Given the description of an element on the screen output the (x, y) to click on. 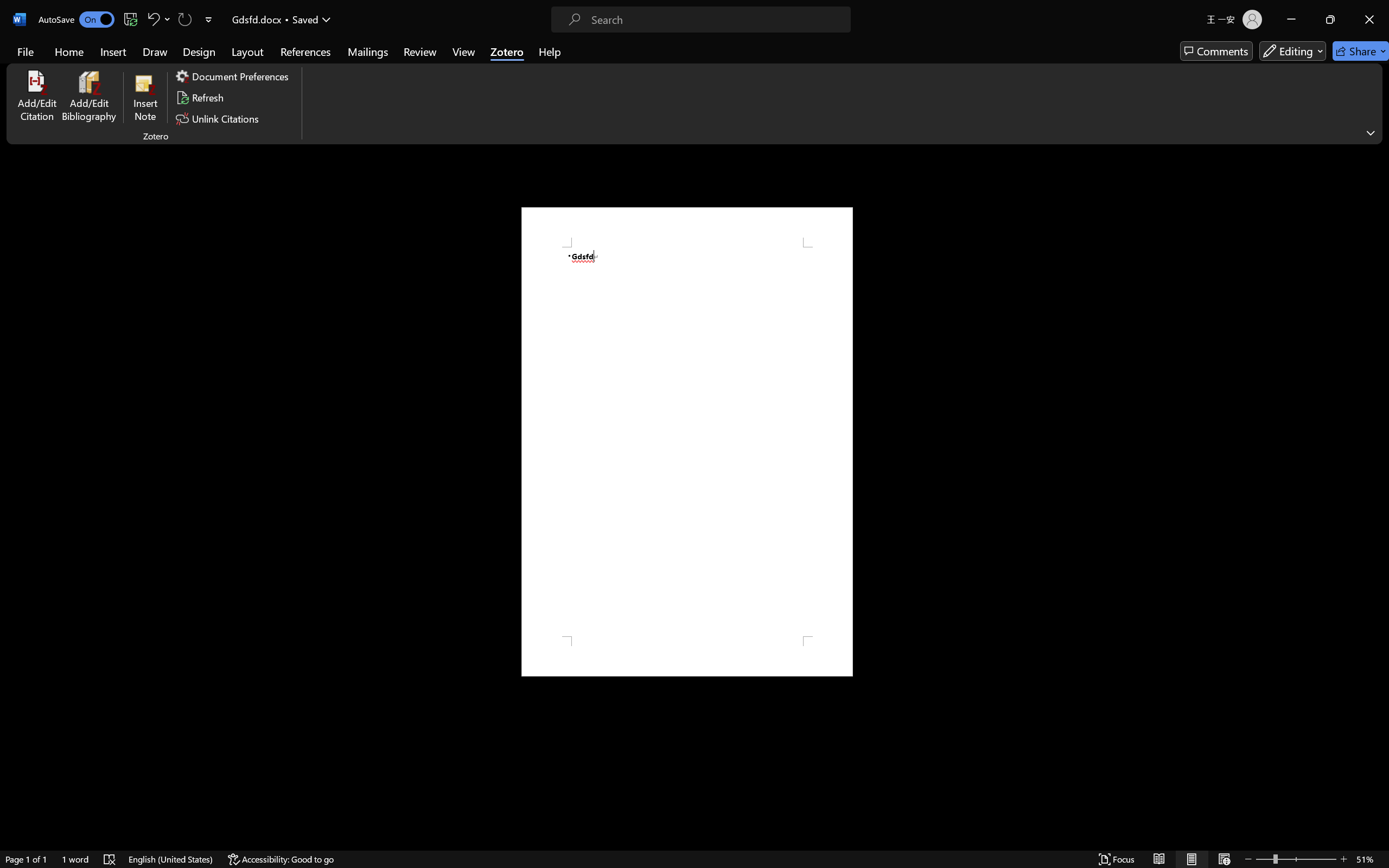
Page 1 content (686, 441)
